Given the description of an element on the screen output the (x, y) to click on. 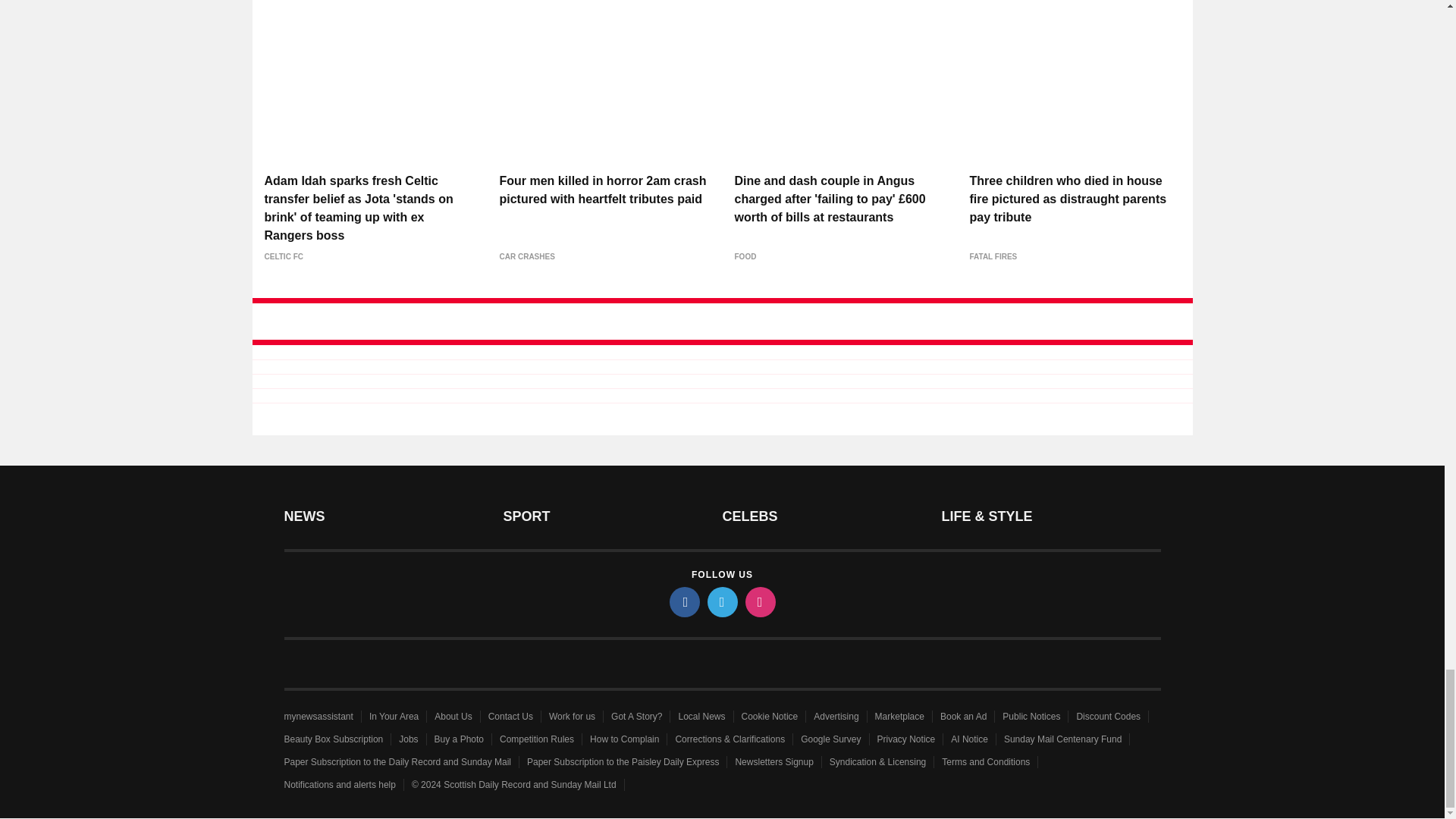
facebook (683, 602)
twitter (721, 602)
instagram (759, 602)
